Given the description of an element on the screen output the (x, y) to click on. 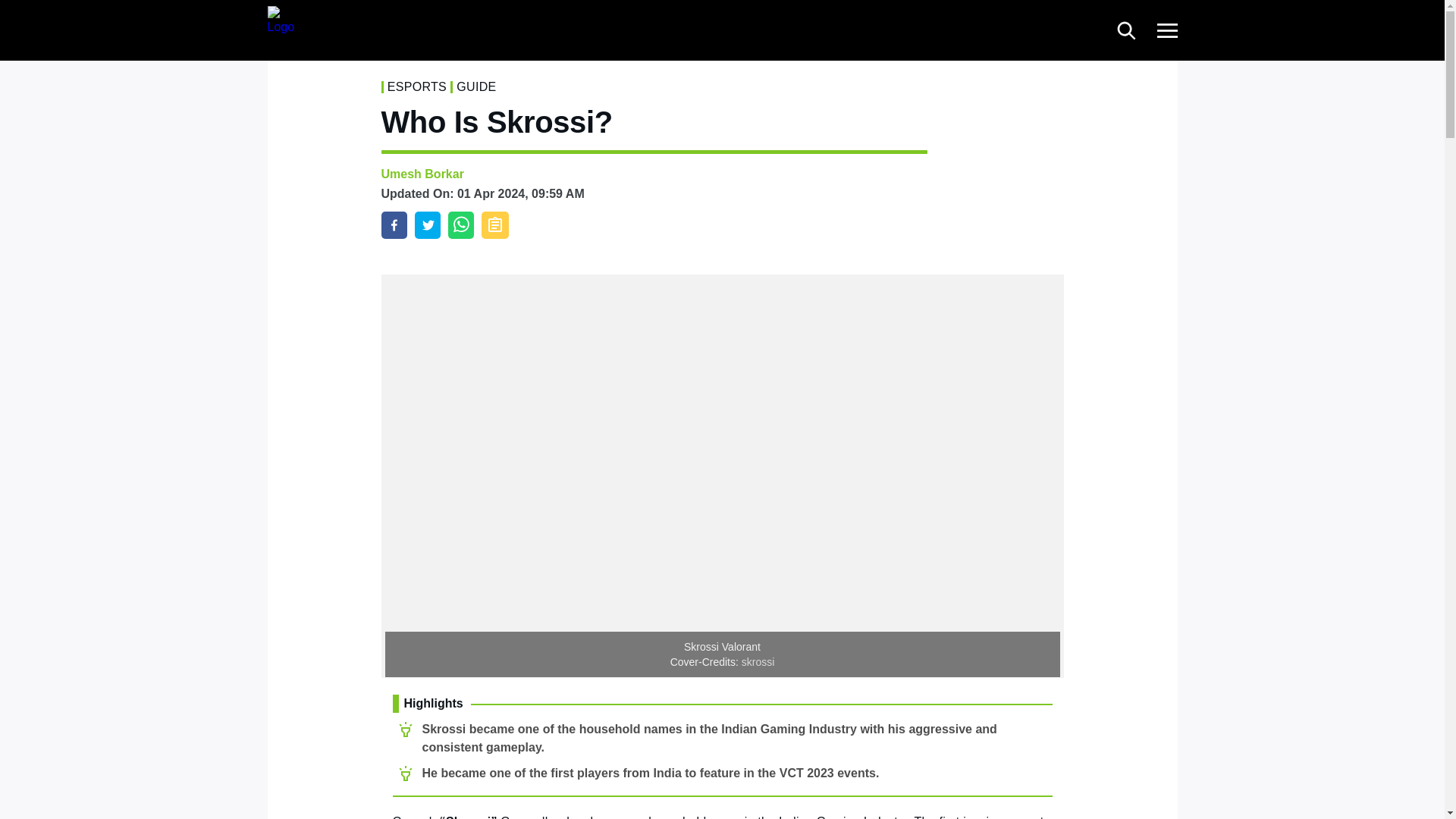
GUIDE (476, 87)
ESPORTS (416, 87)
Who Is Skrossi? (393, 225)
skrossi (757, 662)
Umesh Borkar (421, 173)
